Given the description of an element on the screen output the (x, y) to click on. 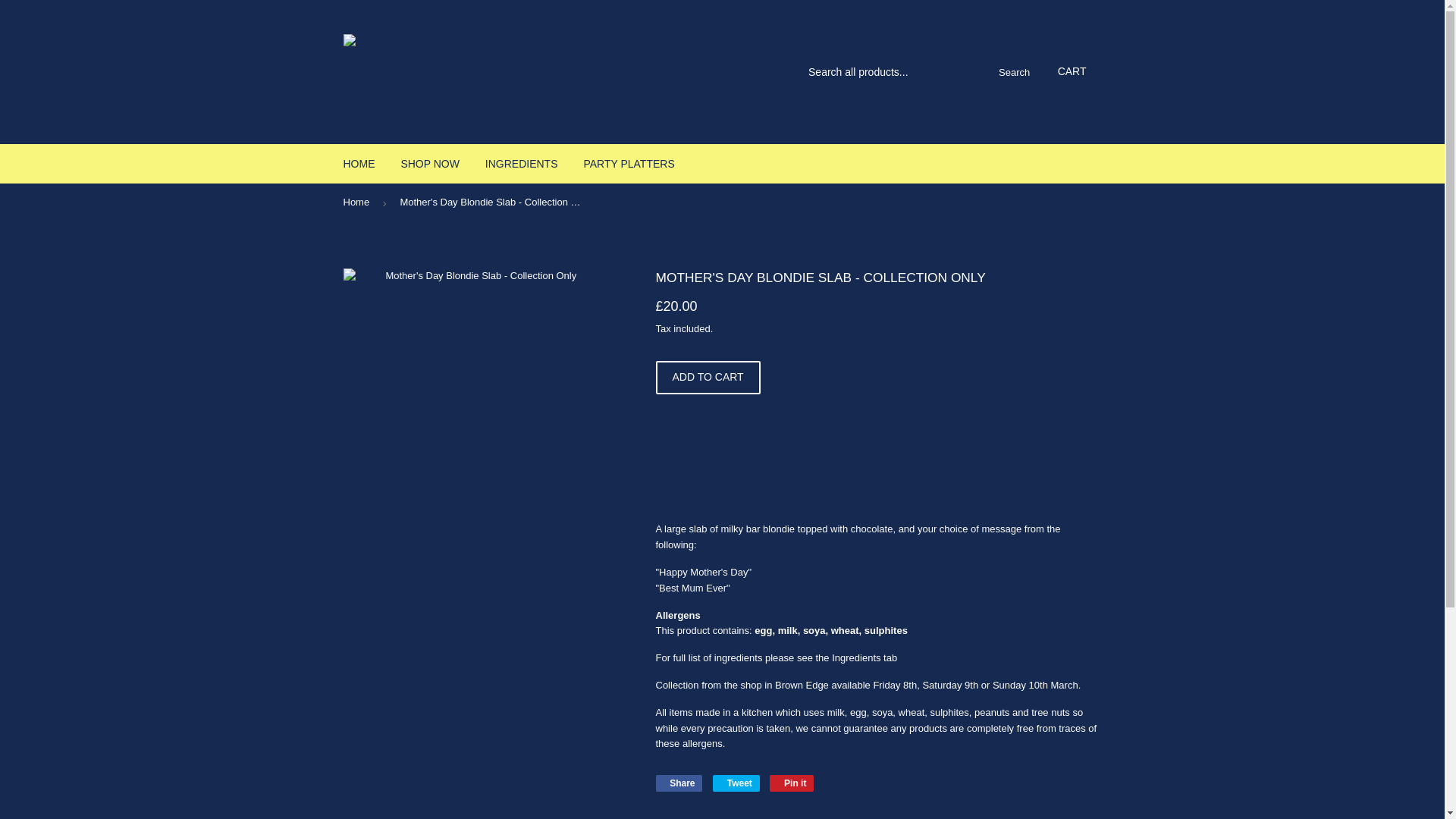
PARTY PLATTERS (628, 163)
HOME (359, 163)
Pin on Pinterest (791, 782)
Tweet on Twitter (791, 782)
SHOP NOW (736, 782)
CART (429, 163)
Back to the frontpage (736, 782)
ADD TO CART (1072, 71)
INGREDIENTS (358, 202)
Share on Facebook (707, 377)
Search (521, 163)
Home (678, 782)
